Given the description of an element on the screen output the (x, y) to click on. 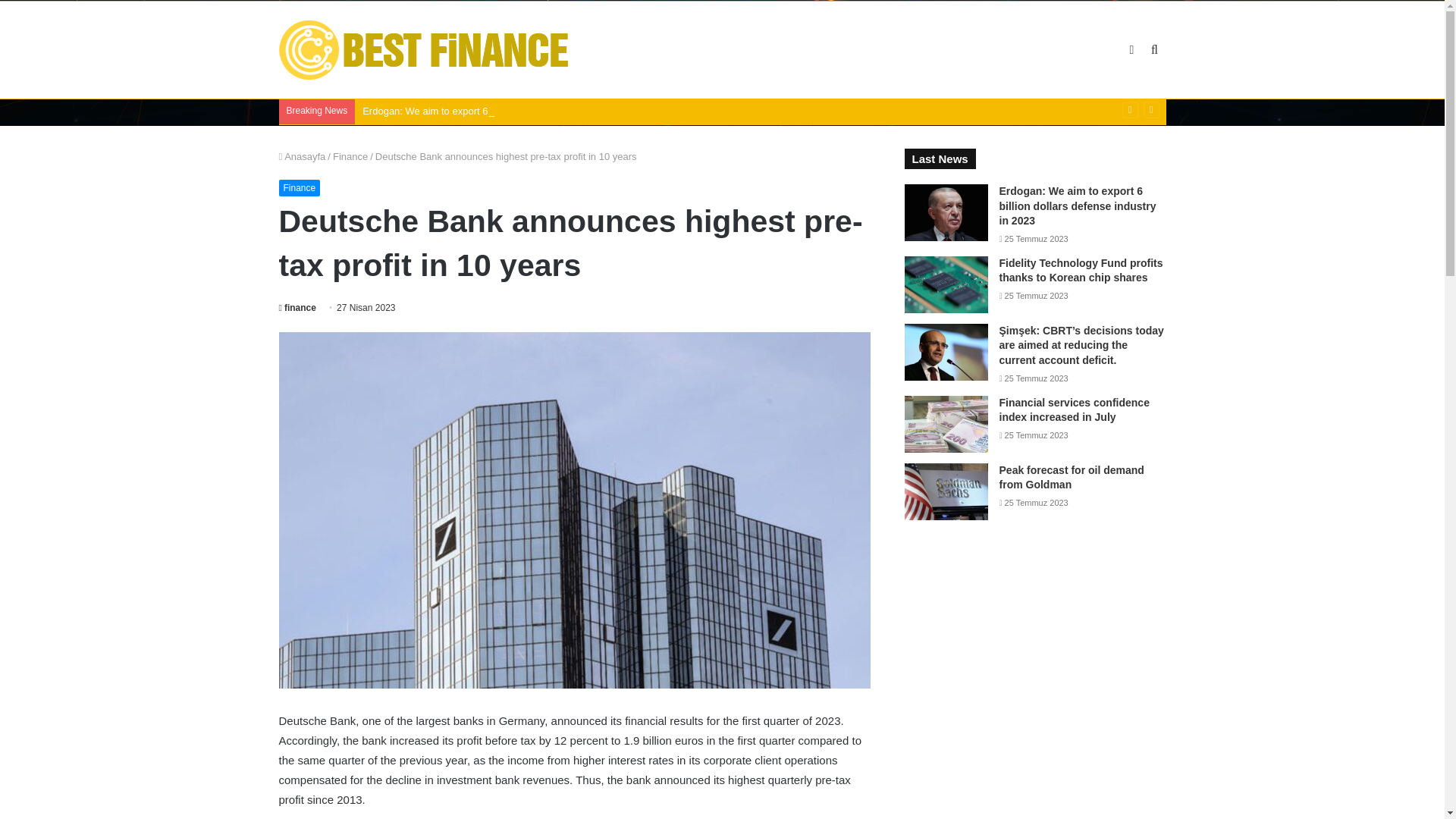
Finance (350, 156)
finance (297, 307)
Financial services confidence index increased in July (1074, 410)
finance (297, 307)
Peak forecast for oil demand from Goldman (1071, 477)
Finance (299, 187)
Best Finance News (424, 49)
Anasayfa (302, 156)
